Given the description of an element on the screen output the (x, y) to click on. 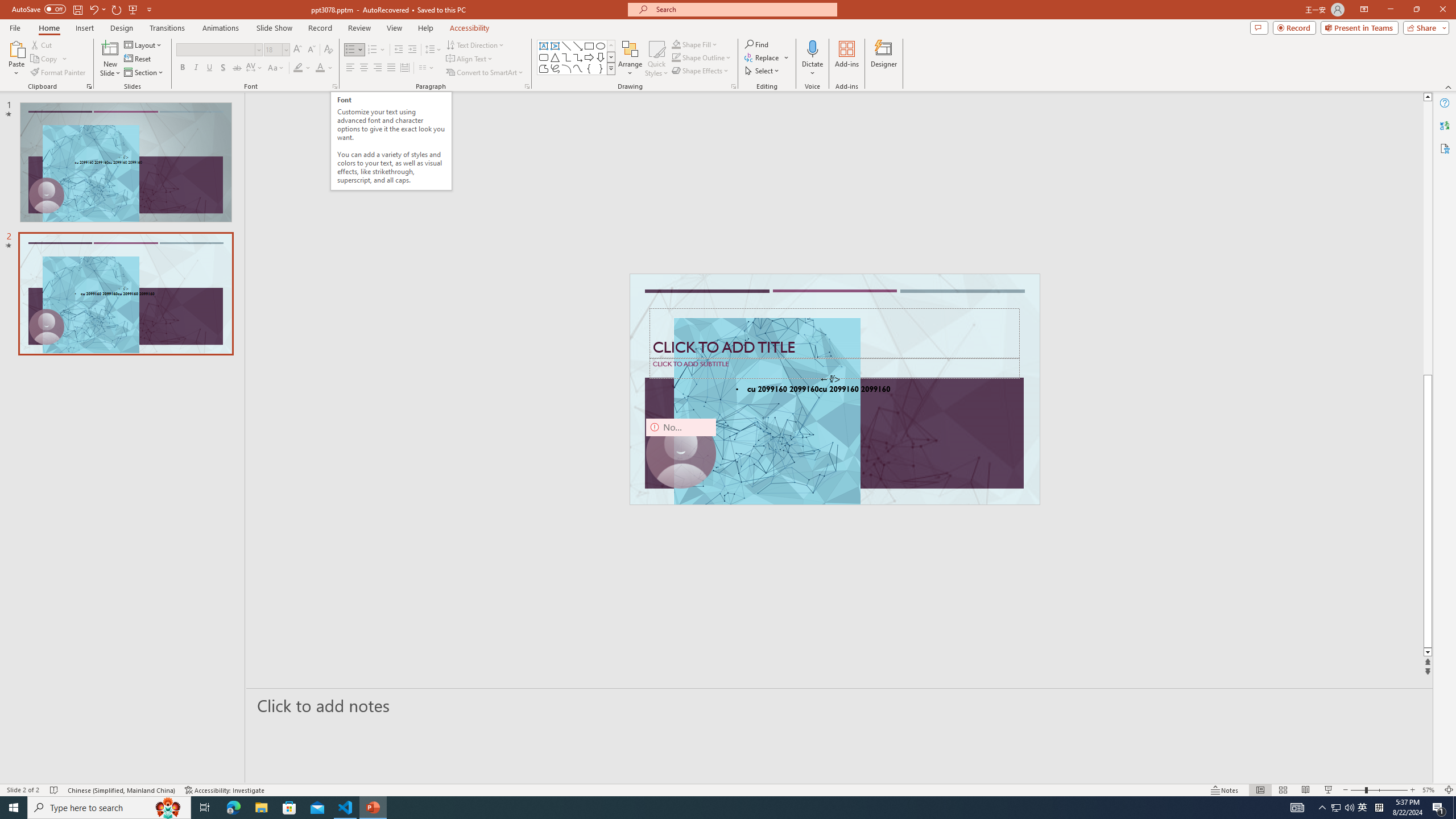
Curve (577, 68)
Clear Formatting (327, 49)
An abstract genetic concept (834, 389)
Insert (83, 28)
Redo (117, 9)
Align Text (470, 58)
From Beginning (133, 9)
Increase Indent (412, 49)
Underline (209, 67)
Font Size (273, 49)
Arrow: Down (600, 57)
Restore Down (1416, 9)
Right Brace (600, 68)
Title TextBox (834, 332)
Copy (45, 58)
